Given the description of an element on the screen output the (x, y) to click on. 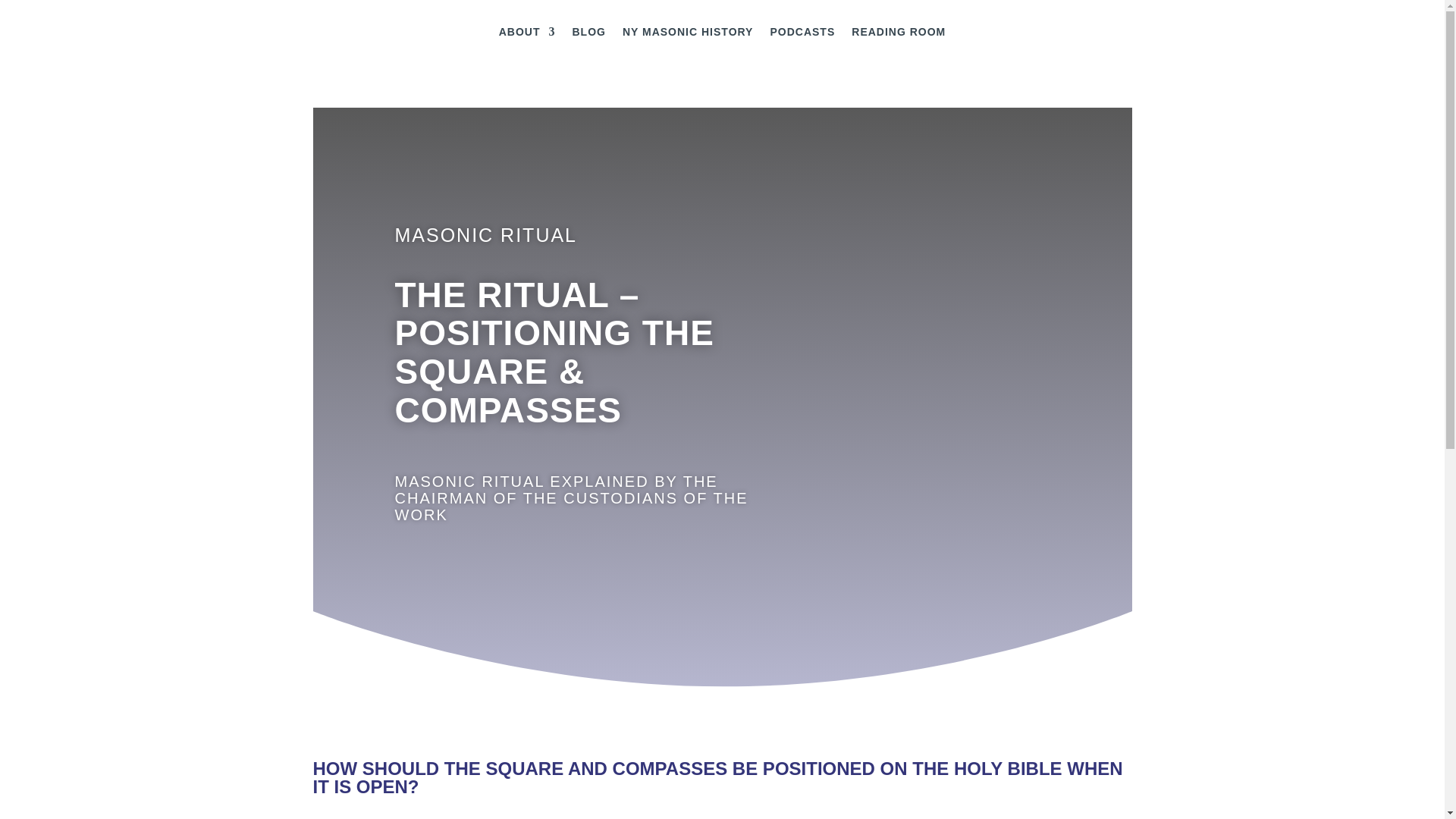
PODCASTS (802, 34)
NY MASONIC HISTORY (688, 34)
ABOUT (527, 34)
READING ROOM (897, 34)
BLOG (588, 34)
